Given the description of an element on the screen output the (x, y) to click on. 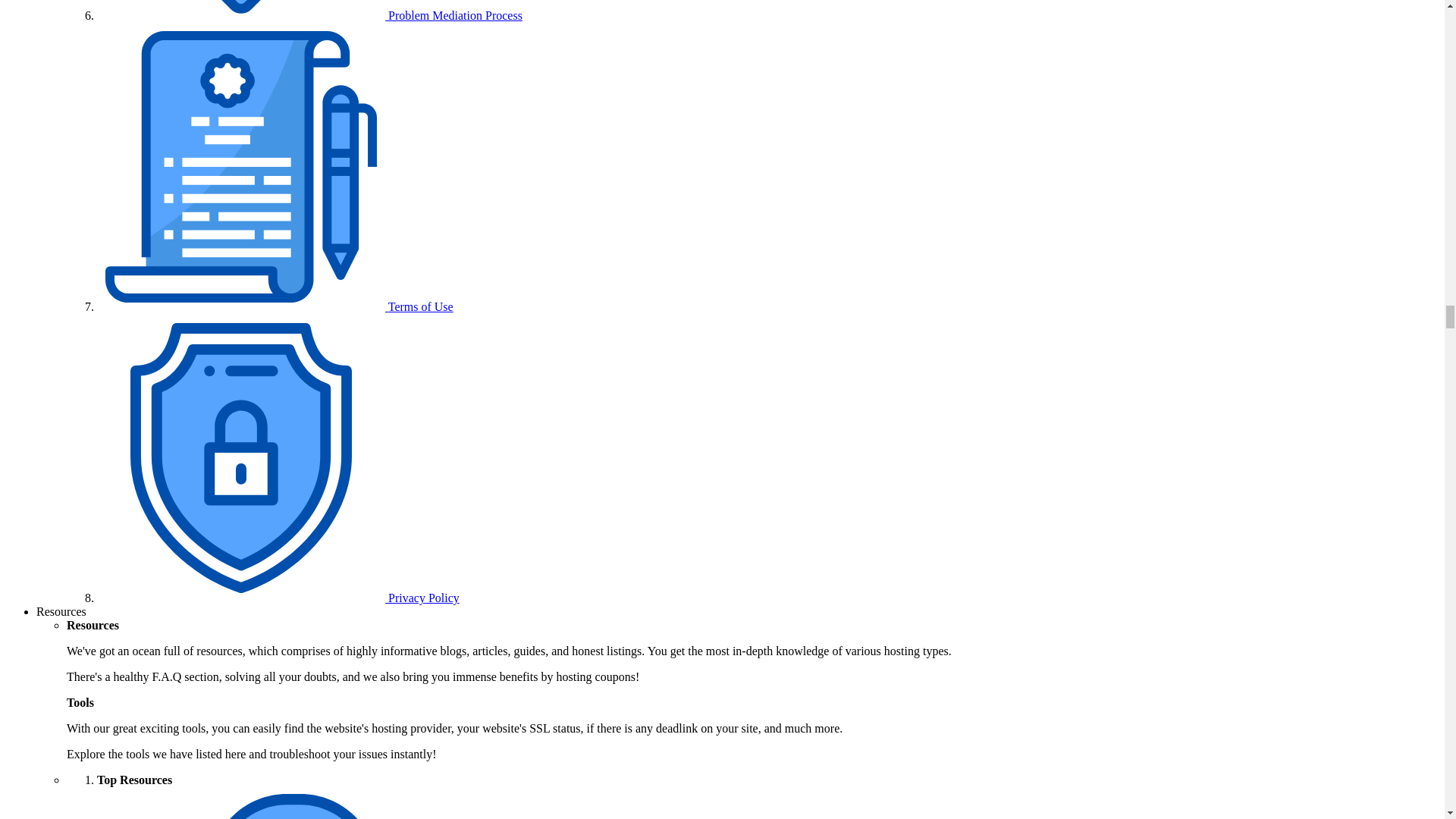
Resources (60, 611)
Terms of Use (274, 306)
Problem Mediation Process (309, 15)
Privacy Policy (278, 597)
